Given the description of an element on the screen output the (x, y) to click on. 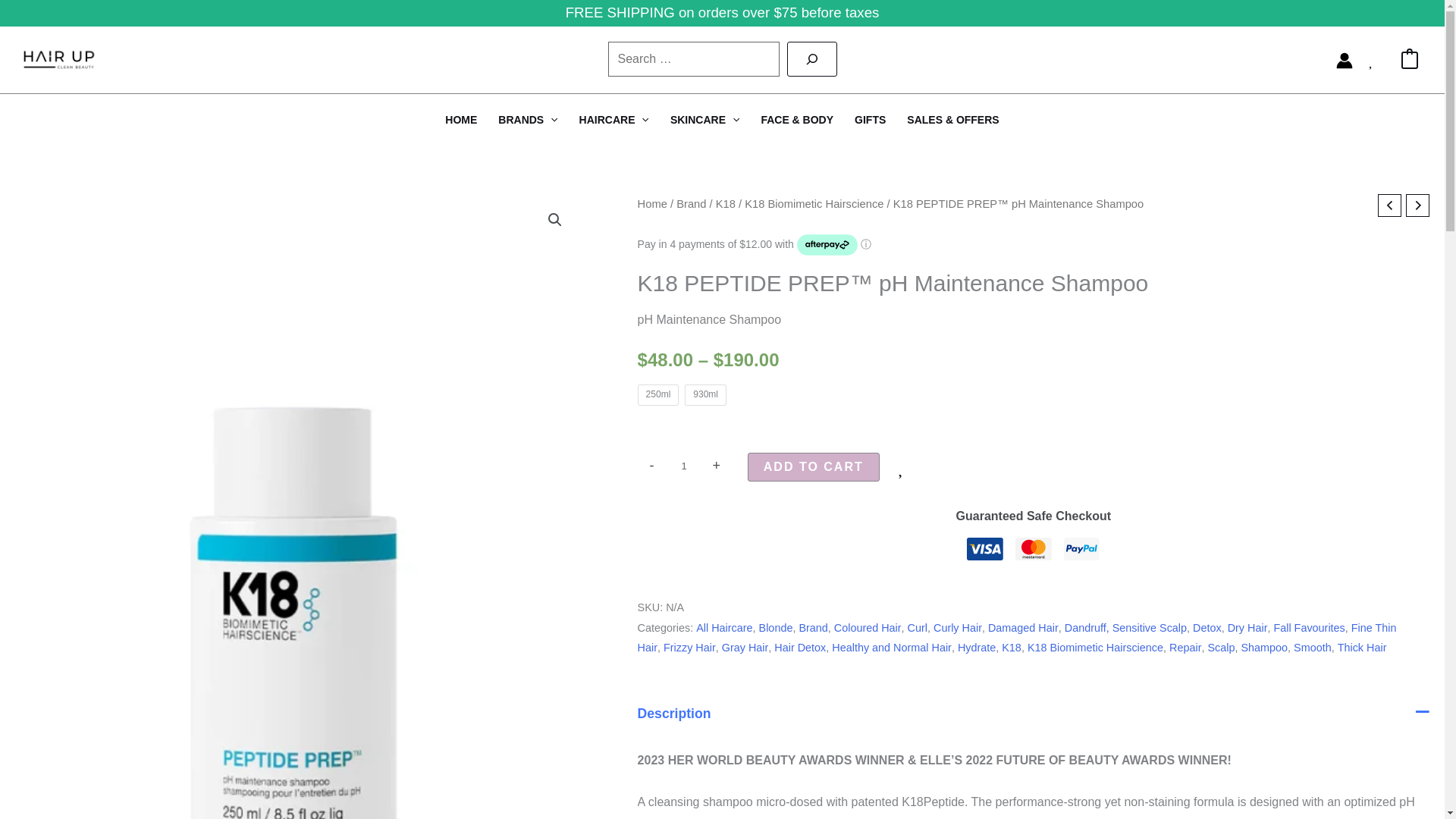
BRANDS (527, 119)
WISHLIST (1377, 59)
Afterpay (826, 244)
1 (683, 465)
HOME (460, 119)
0 (1409, 58)
